Given the description of an element on the screen output the (x, y) to click on. 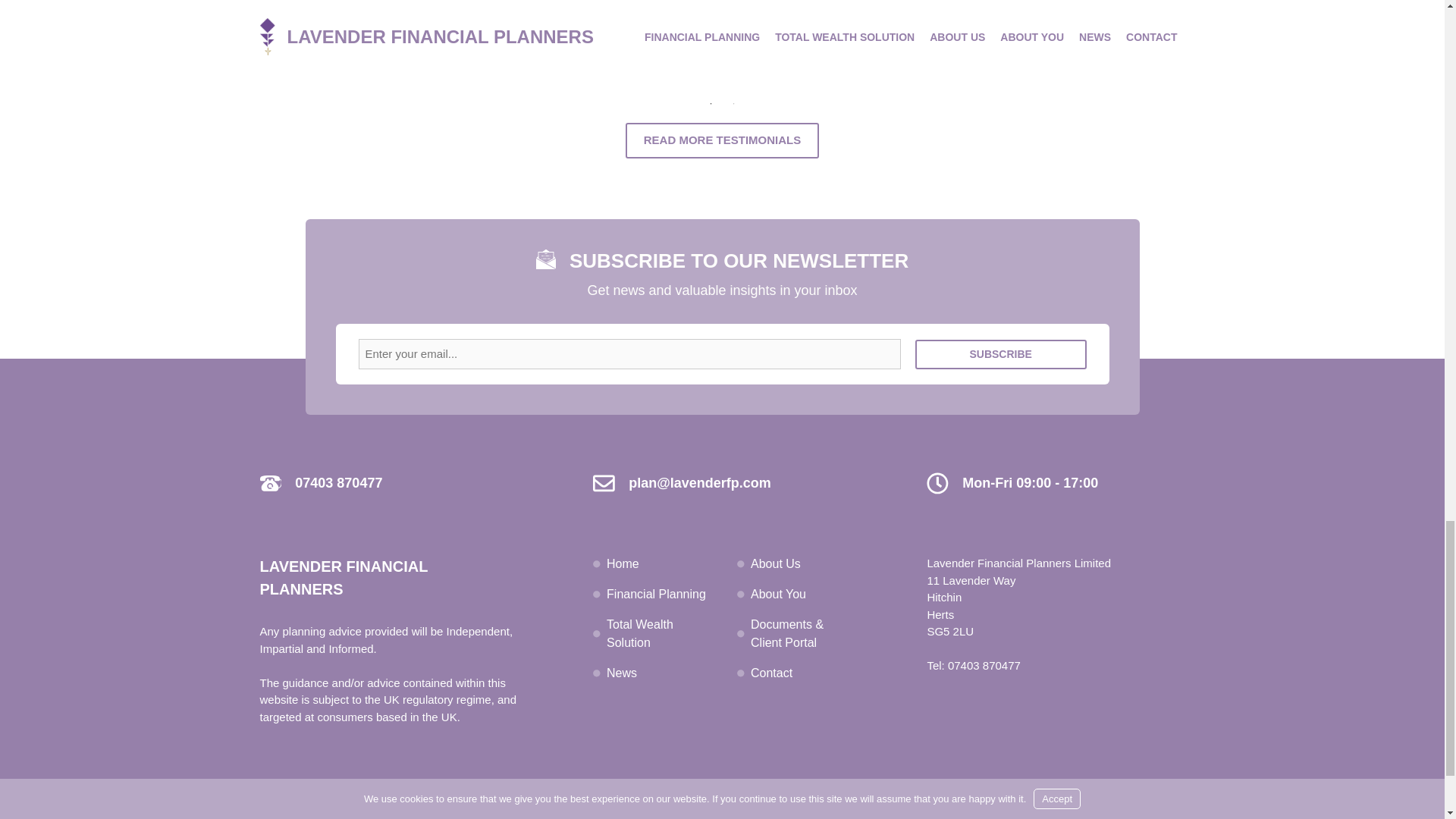
Contact (771, 672)
Total Wealth Solution (639, 633)
READ MORE TESTIMONIALS (722, 140)
Financial Planning (656, 594)
Subscribe (1000, 354)
2 (733, 103)
a carbon neutral website from thedcc. (1096, 811)
Home (623, 563)
About Us (775, 563)
News (622, 672)
